Given the description of an element on the screen output the (x, y) to click on. 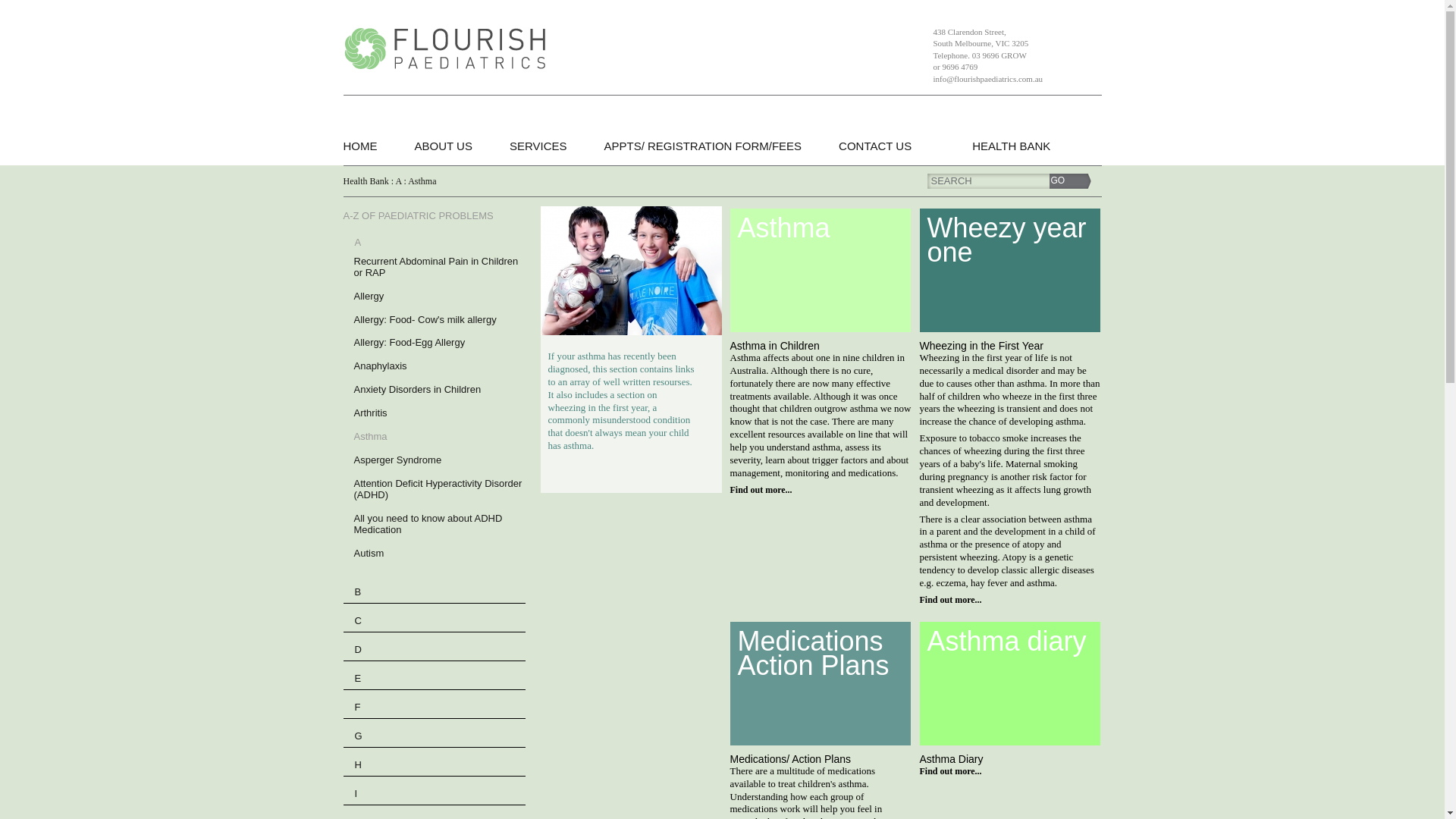
Arthritis Element type: text (369, 412)
Allergy: Food-Egg Allergy Element type: text (408, 342)
A Element type: text (359, 238)
Asthma Element type: text (819, 270)
Find out more... Element type: text (950, 770)
E Element type: text (359, 674)
Anxiety Disorders in Children Element type: text (416, 389)
CONTACT US Element type: text (874, 145)
D Element type: text (359, 645)
Medications Action Plans Element type: text (819, 683)
I Element type: text (357, 789)
F Element type: text (358, 702)
HEALTH BANK Element type: text (1011, 145)
Go Element type: text (1070, 180)
Autism Element type: text (368, 552)
APPTS/ REGISTRATION FORM/FEES Element type: text (702, 145)
Attention Deficit Hyperactivity Disorder (ADHD) Element type: text (438, 488)
Wheezy year one Element type: text (1009, 270)
Find out more... Element type: text (950, 599)
Asthma diary Element type: text (1009, 683)
info@flourishpaediatrics.com.au Element type: text (987, 78)
Recurrent Abdominal Pain in Children or RAP Element type: text (438, 266)
Asperger Syndrome Element type: text (397, 459)
SERVICES Element type: text (538, 145)
A-Z OF PAEDIATRIC PROBLEMS Element type: text (417, 215)
B Element type: text (359, 587)
G Element type: text (359, 731)
Asthma Element type: text (369, 436)
H Element type: text (359, 760)
ABOUT US Element type: text (442, 145)
Allergy: Food- Cow's milk allergy Element type: text (424, 319)
C Element type: text (359, 616)
HOME Element type: text (360, 145)
Allergy Element type: text (368, 295)
Find out more... Element type: text (760, 489)
Anaphylaxis Element type: text (379, 365)
All you need to know about ADHD Medication Element type: text (438, 523)
